Given the description of an element on the screen output the (x, y) to click on. 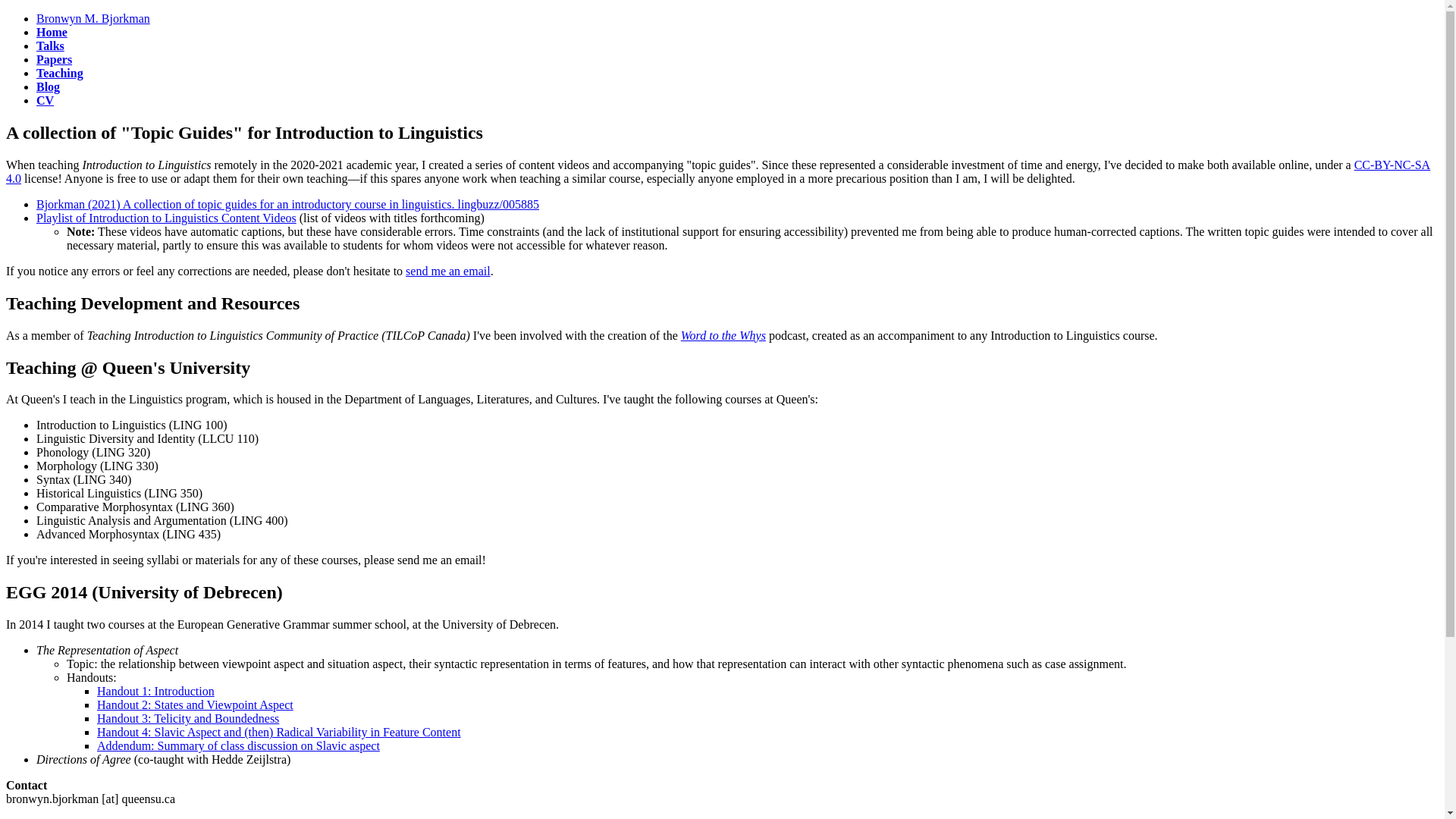
CC-BY-NC-SA 4.0 (717, 171)
Handout 3: Telicity and Boundedness (188, 717)
Handout 2: States and Viewpoint Aspect (195, 704)
Blog (47, 86)
Bronwyn M. Bjorkman (92, 18)
CV (44, 100)
Talks (50, 45)
Addendum: Summary of class discussion on Slavic aspect (238, 745)
Teaching (59, 72)
send me an email (448, 270)
Playlist of Introduction to Linguistics Content Videos (166, 217)
Papers (53, 59)
Word to the Whys (723, 335)
Home (51, 31)
